Given the description of an element on the screen output the (x, y) to click on. 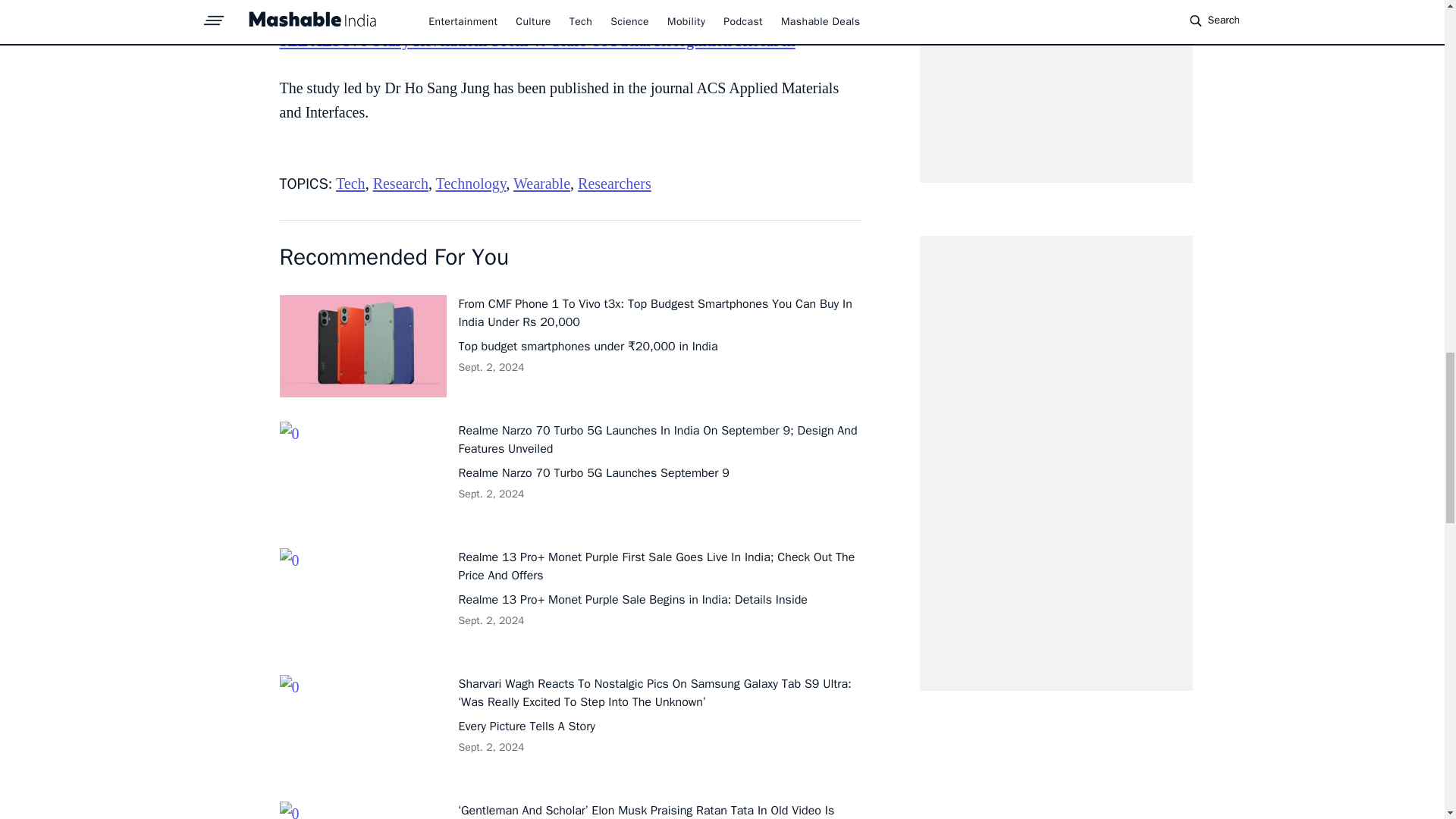
Researchers (614, 183)
Wearable (541, 183)
Technology (470, 183)
Tech (350, 183)
Research (400, 183)
